Given the description of an element on the screen output the (x, y) to click on. 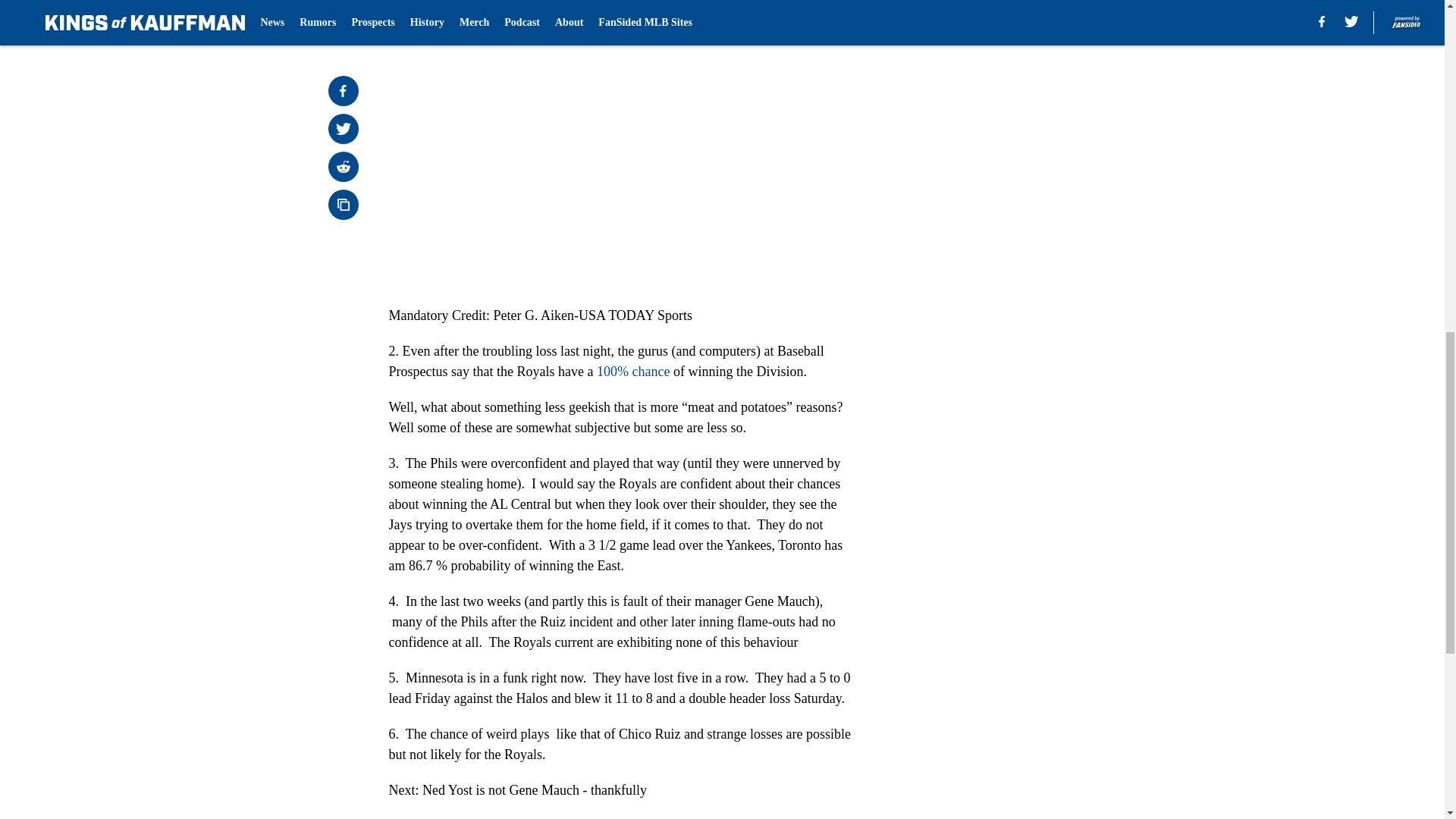
Prev (433, 5)
Next (813, 5)
